Given the description of an element on the screen output the (x, y) to click on. 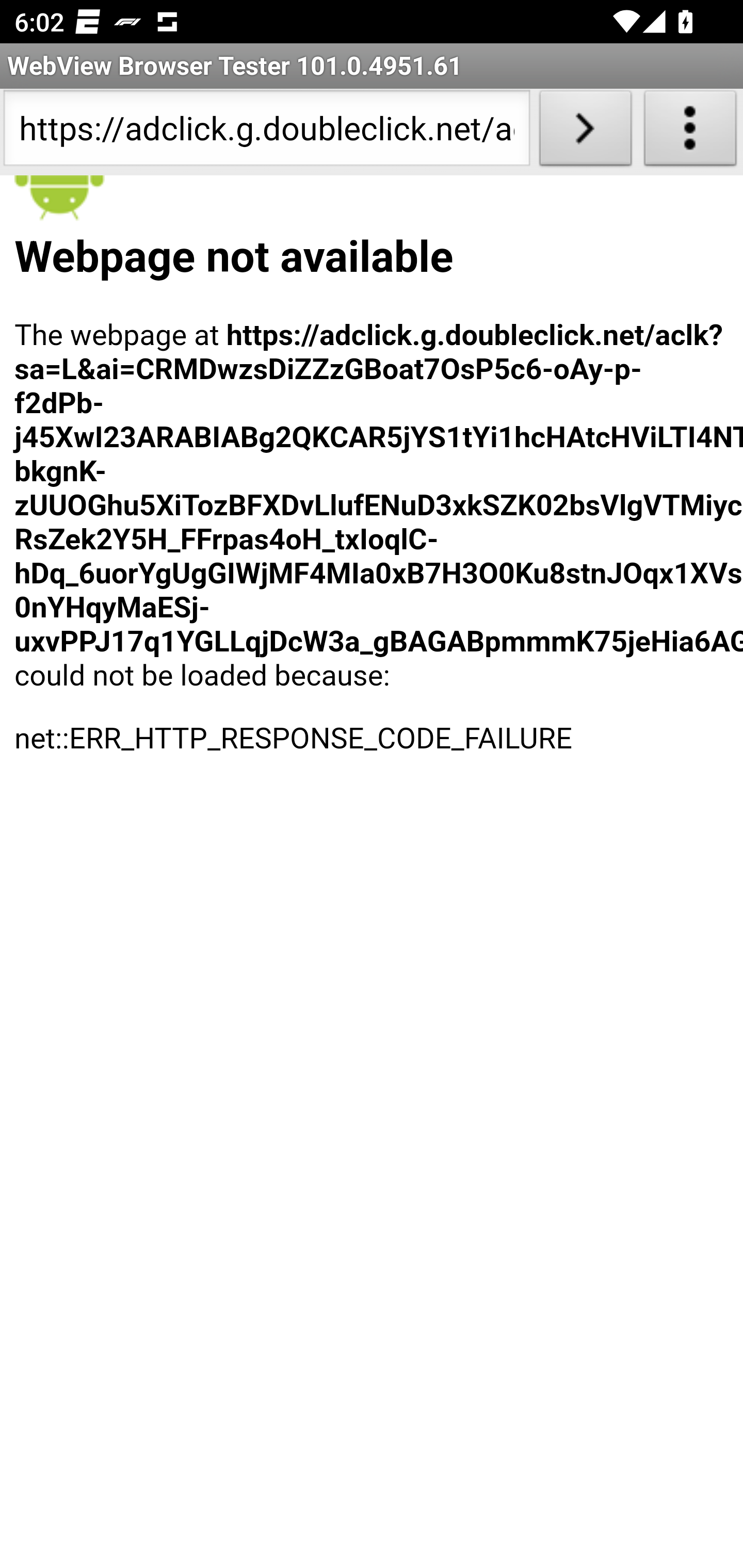
Load URL (585, 132)
About WebView (690, 132)
